Given the description of an element on the screen output the (x, y) to click on. 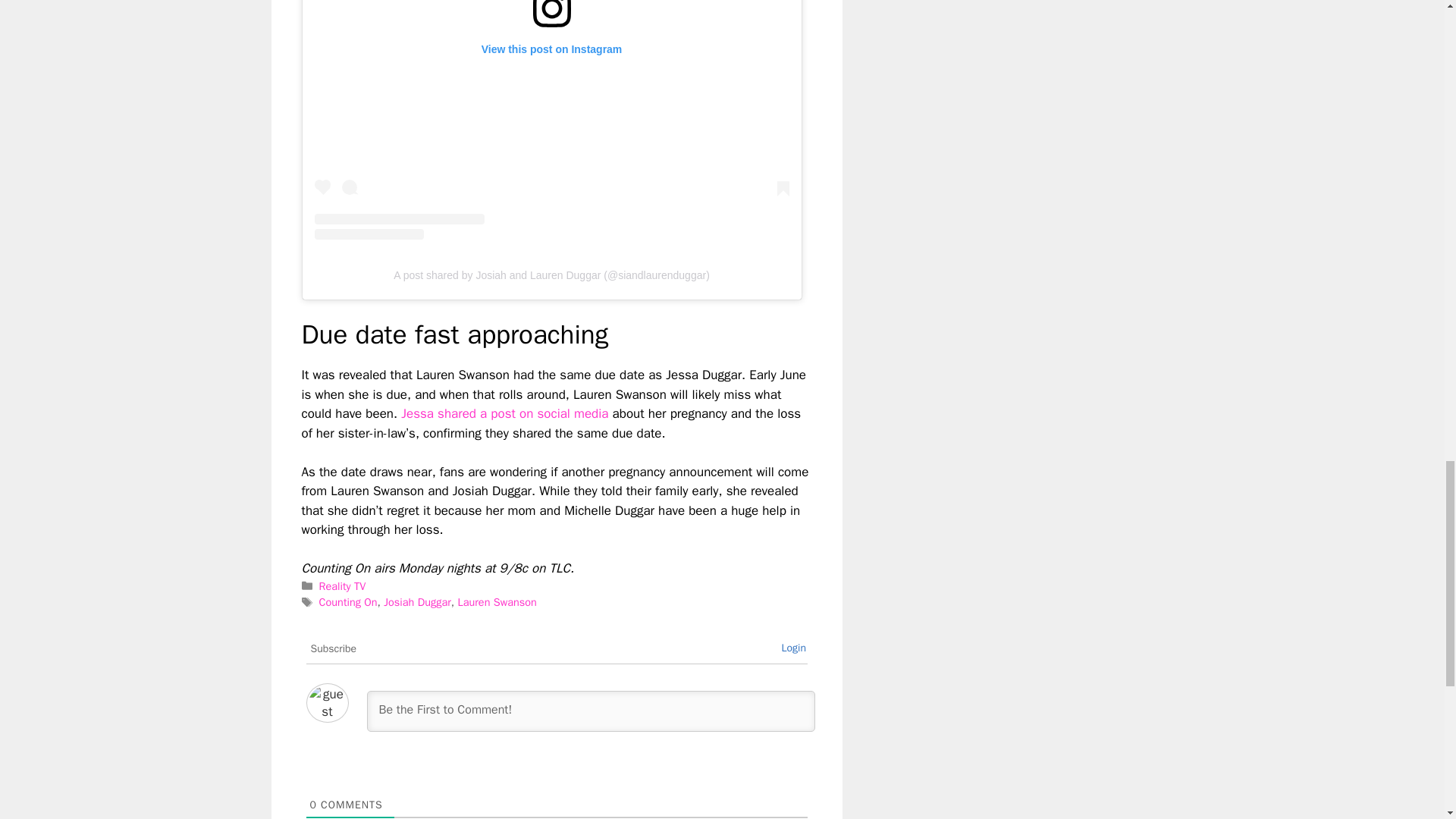
Lauren Swanson (496, 602)
Login (793, 647)
Reality TV (342, 585)
Counting On (347, 602)
Josiah Duggar (417, 602)
Jessa shared a post on social media (504, 413)
